Given the description of an element on the screen output the (x, y) to click on. 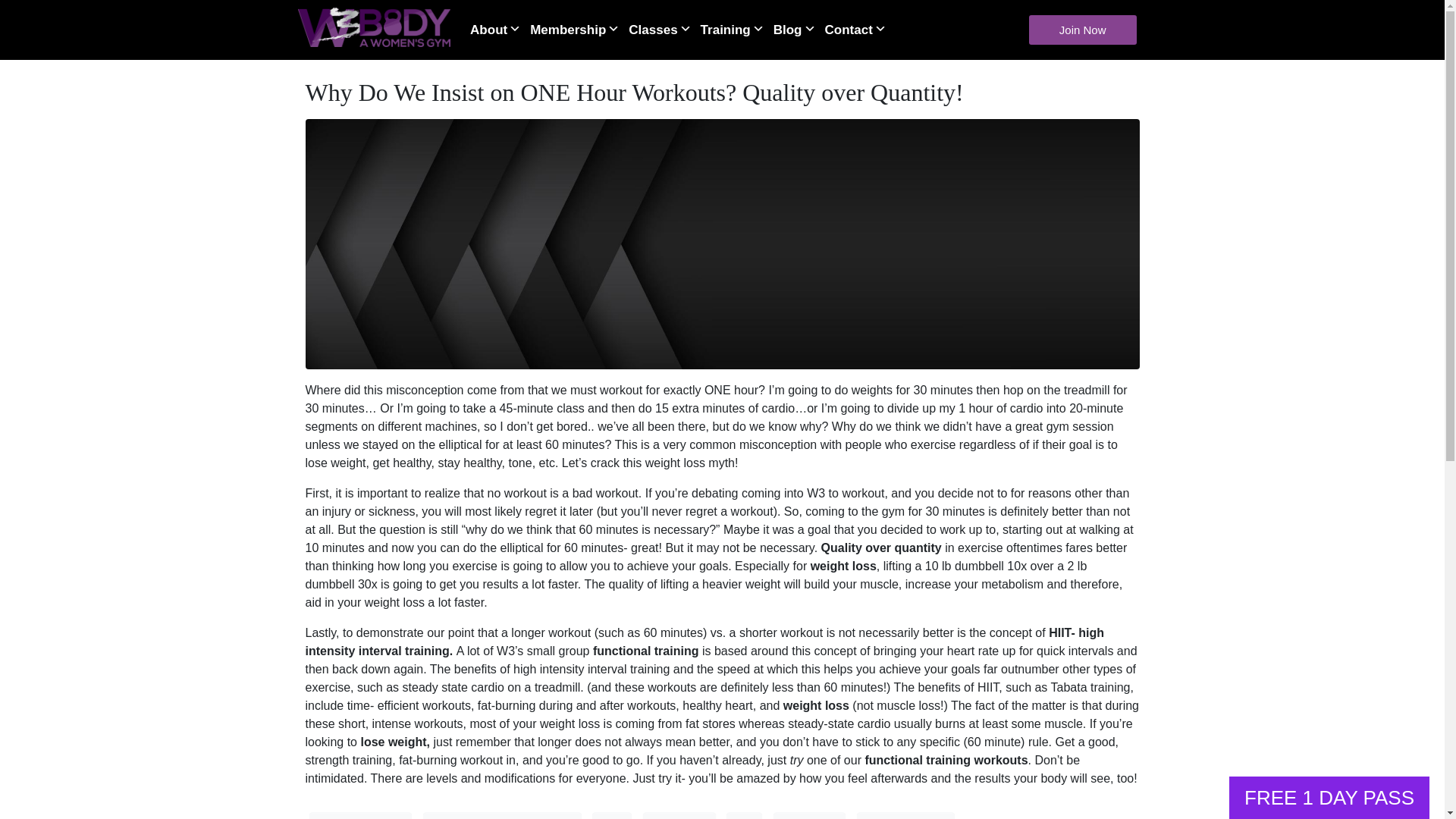
Blog (798, 29)
Classes (662, 29)
About (498, 29)
Training (736, 29)
Contact (859, 29)
Membership (578, 29)
